Given the description of an element on the screen output the (x, y) to click on. 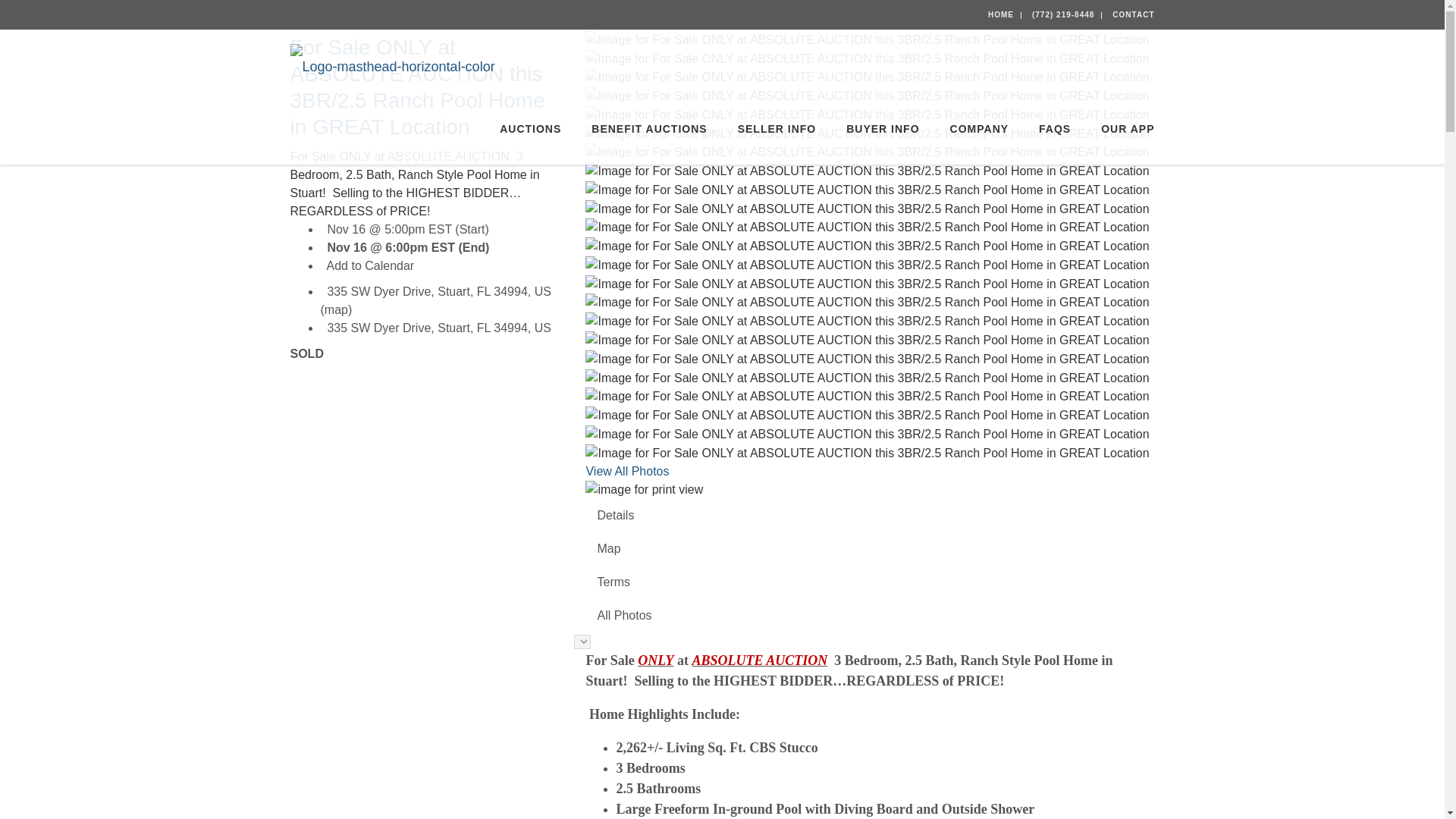
BUYER INFO (882, 128)
Add this auction to your calendar (370, 265)
View All Photos (626, 471)
FAQS (1054, 128)
View All Photos (626, 471)
SOLD (425, 353)
OUR APP (1120, 128)
CONTACT (1133, 14)
Map (869, 548)
335 SW Dyer Drive, Stuart, FL 34994, US (438, 291)
Company (979, 128)
All Photos (869, 615)
Buyer Info (882, 128)
Auctions (530, 128)
Add to Calendar (370, 265)
